Given the description of an element on the screen output the (x, y) to click on. 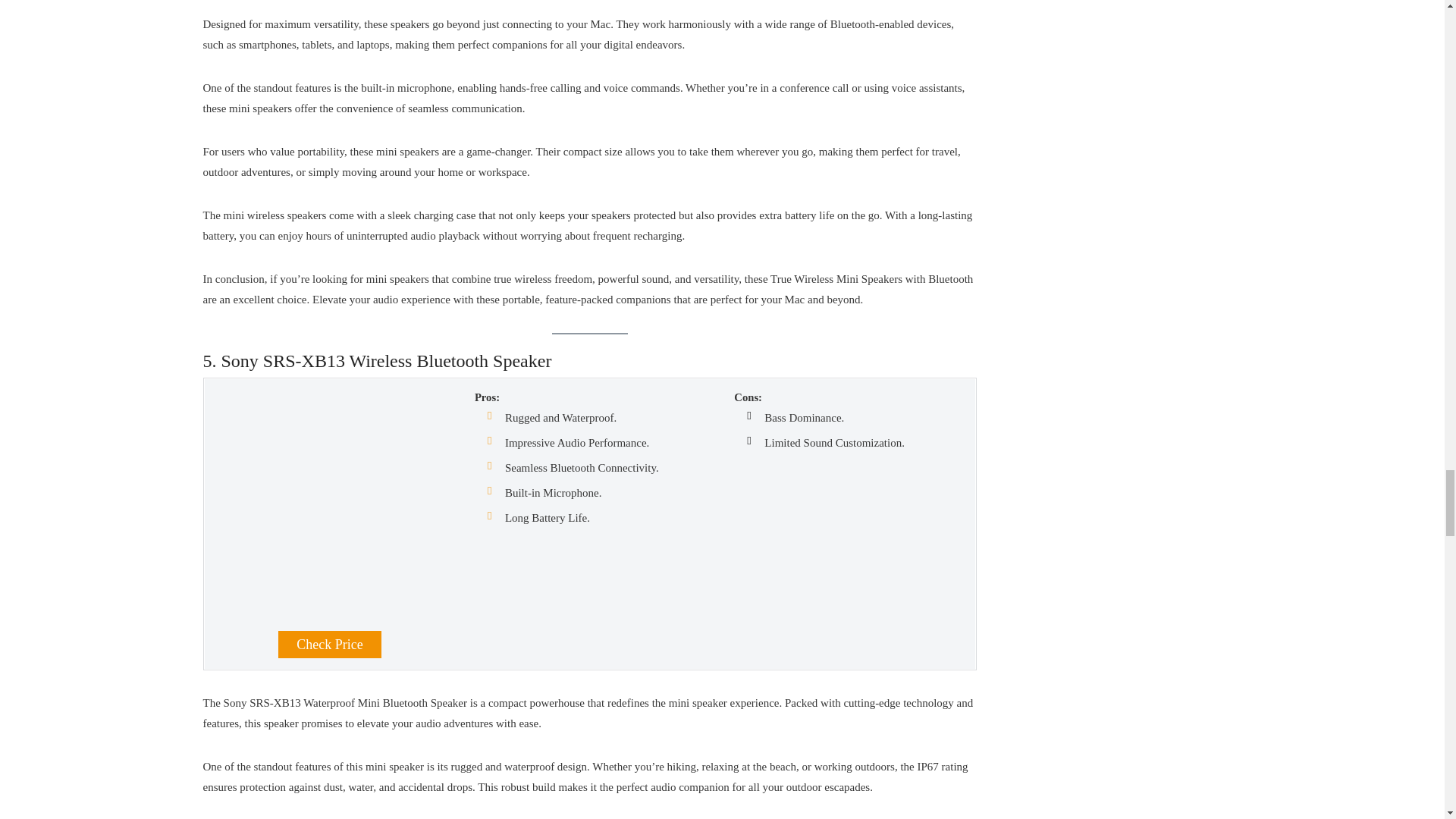
Check Amazon Price (329, 644)
